Given the description of an element on the screen output the (x, y) to click on. 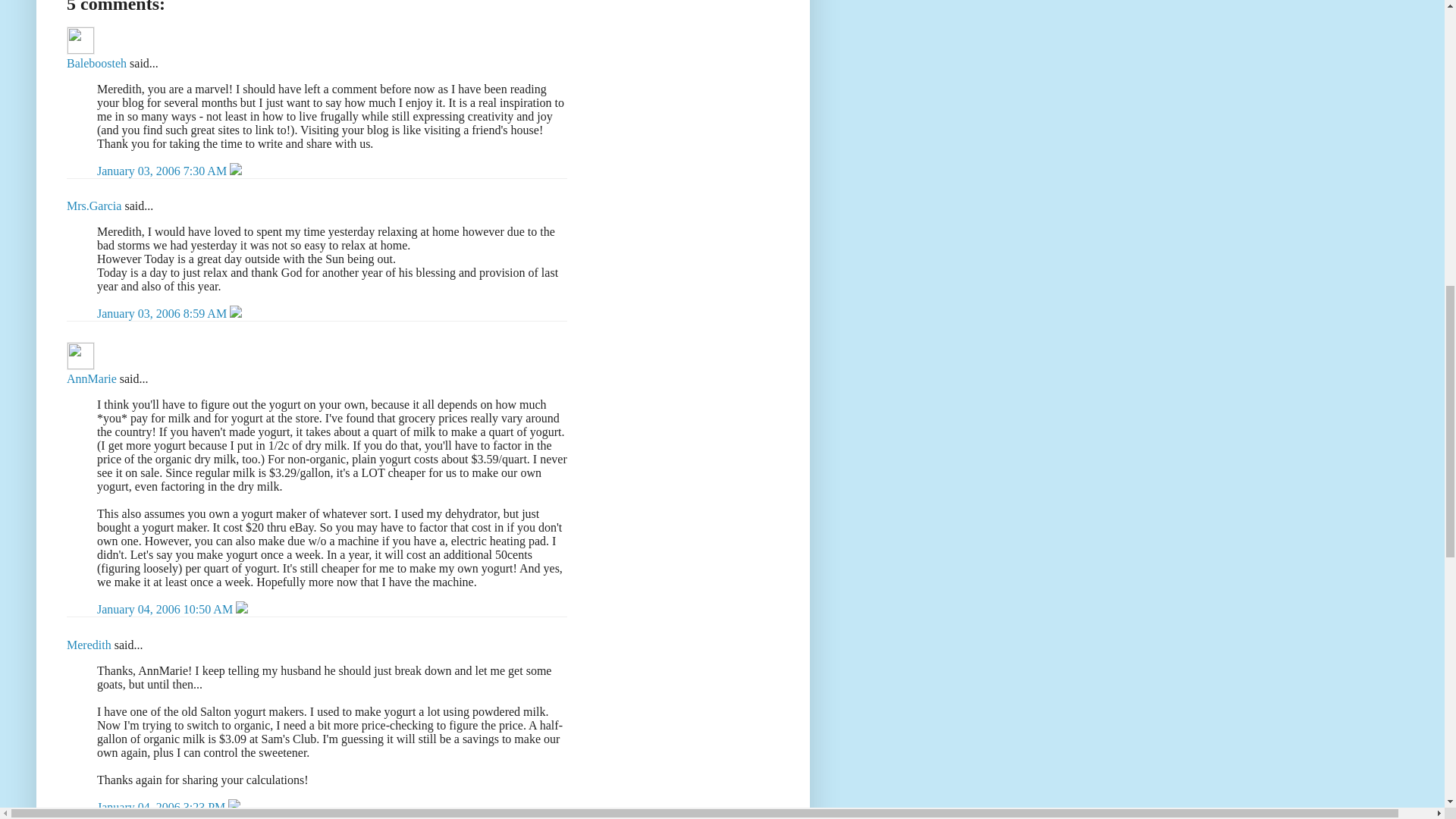
comment permalink (162, 807)
January 04, 2006 10:50 AM (166, 608)
comment permalink (163, 313)
Mrs.Garcia (93, 205)
Meredith (89, 644)
Delete Comment (234, 807)
comment permalink (163, 170)
AnnMarie (91, 378)
Baleboosteh (96, 62)
January 03, 2006 7:30 AM (163, 170)
comment permalink (166, 608)
Baleboosteh (80, 40)
Delete Comment (235, 170)
January 04, 2006 3:23 PM (162, 807)
Delete Comment (235, 313)
